Given the description of an element on the screen output the (x, y) to click on. 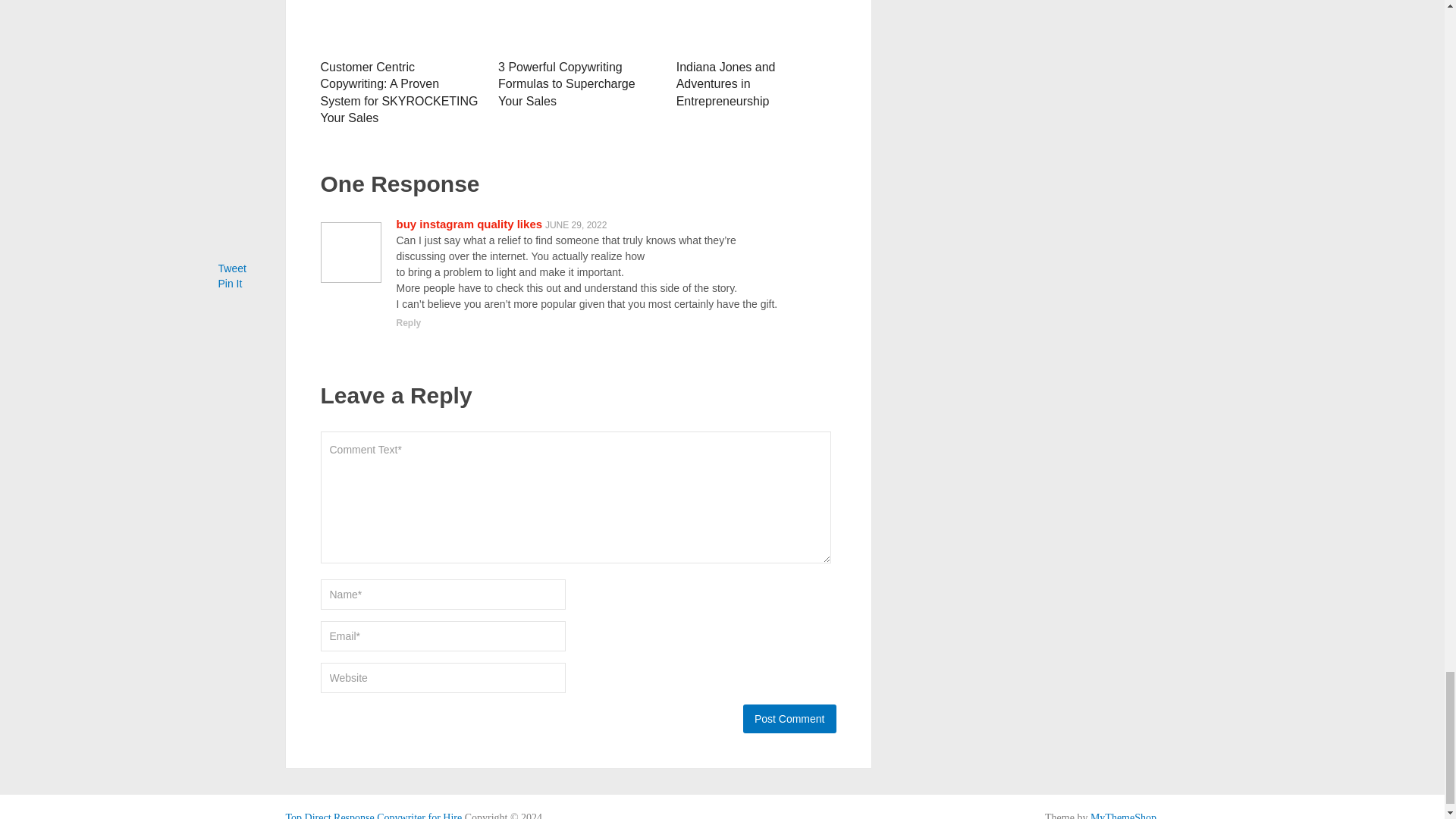
3 Powerful Copywriting Formulas to Supercharge Your Sales (565, 83)
Indiana Jones and Adventures in Entrepreneurship (726, 83)
Indiana Jones and Adventures in Entrepreneurship (756, 25)
3 Powerful Copywriting Formulas to Supercharge Your Sales (577, 25)
Indiana Jones and Adventures in Entrepreneurship (726, 83)
3 Powerful Copywriting Formulas to Supercharge Your Sales (565, 83)
